Given the description of an element on the screen output the (x, y) to click on. 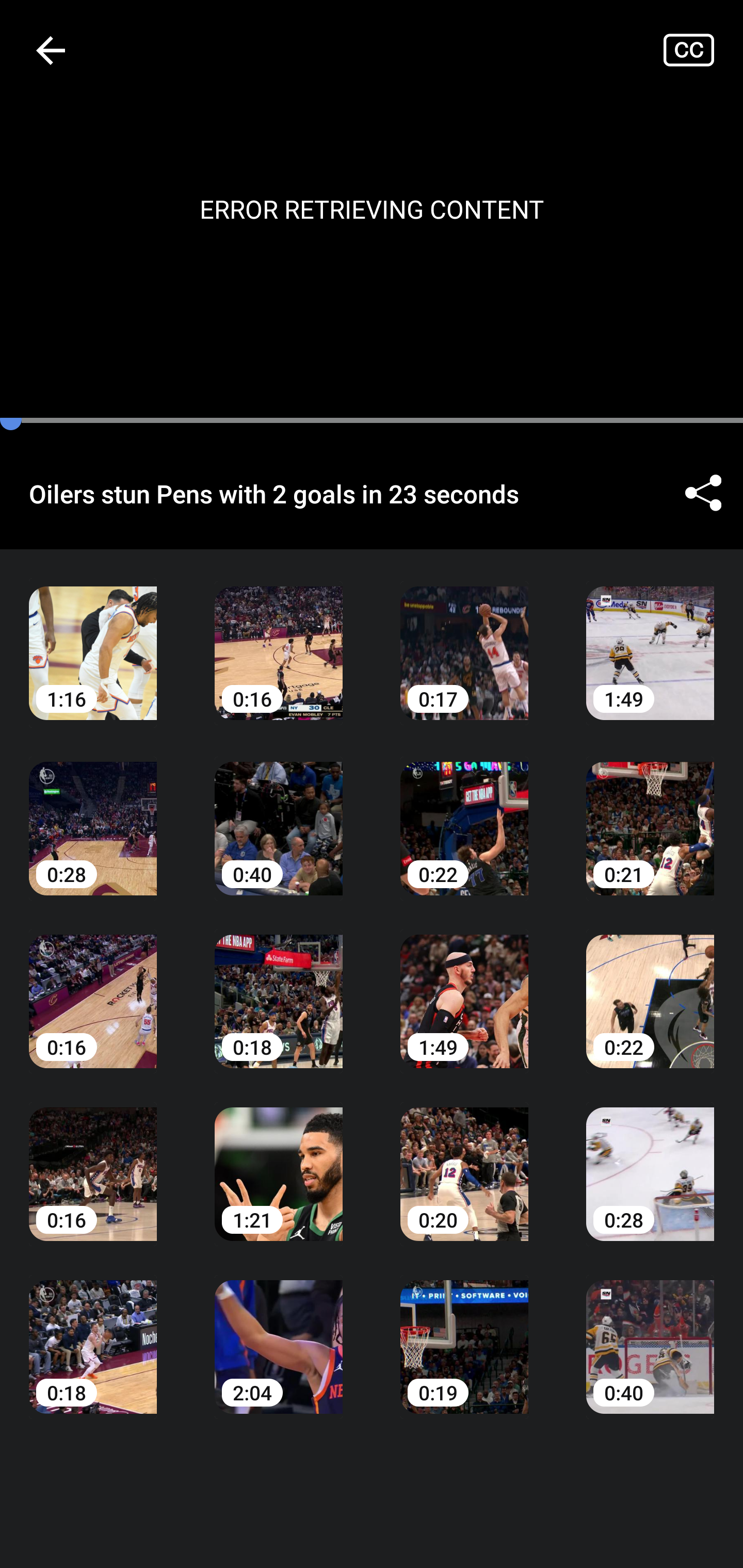
Navigate up (50, 50)
Closed captions  (703, 49)
Share © (703, 493)
1:16 (92, 637)
0:16 (278, 637)
0:17 (464, 637)
1:49 (650, 637)
0:28 (92, 813)
0:40 (278, 813)
0:22 (464, 813)
0:21 (650, 813)
0:16 (92, 987)
0:18 (278, 987)
1:49 (464, 987)
0:22 (650, 987)
0:16 (92, 1160)
1:21 (278, 1160)
0:20 (464, 1160)
0:28 (650, 1160)
0:18 (92, 1332)
2:04 (278, 1332)
0:19 (464, 1332)
0:40 (650, 1332)
